Given the description of an element on the screen output the (x, y) to click on. 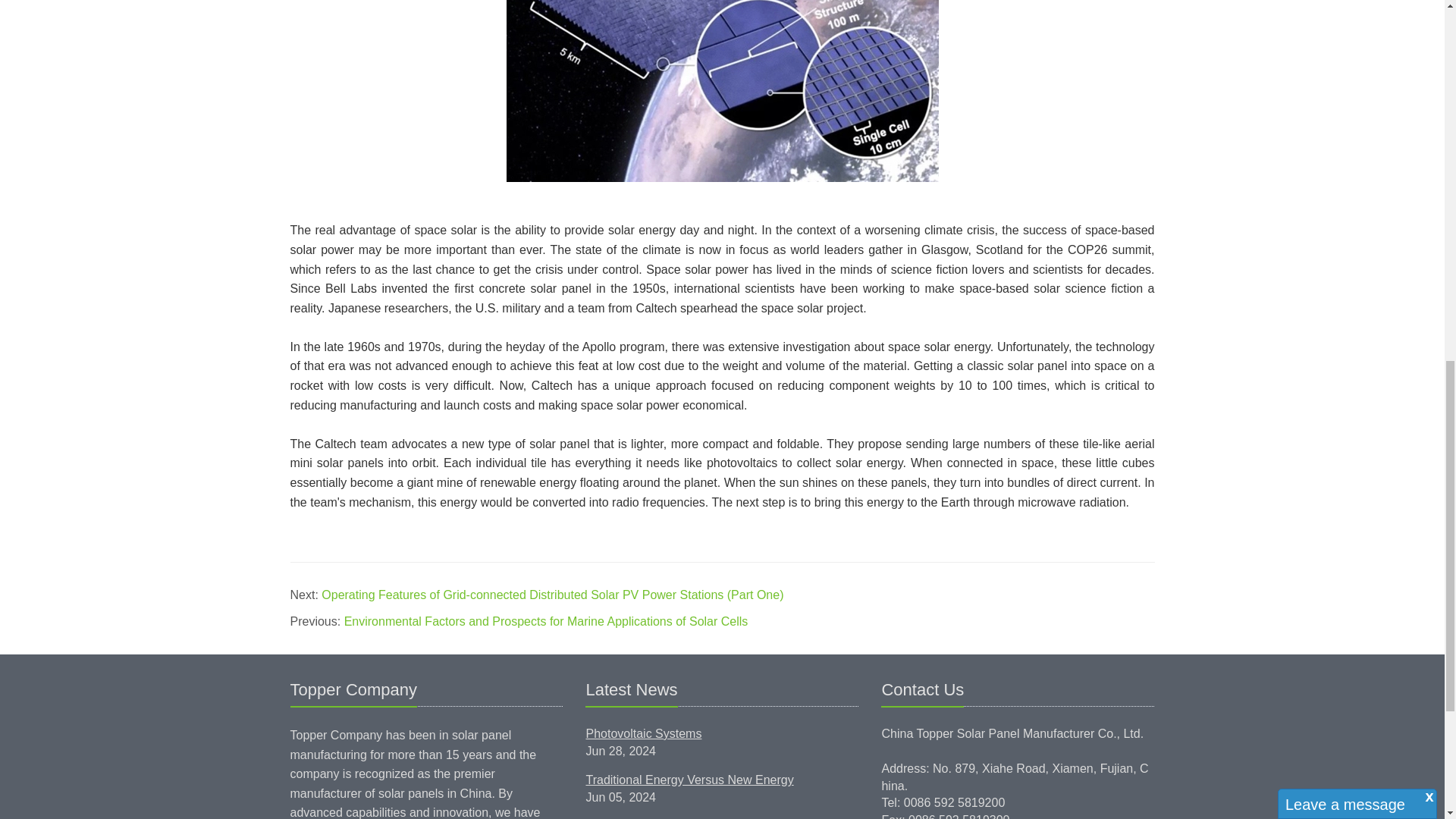
Photovoltaic Systems (643, 734)
Traditional Energy Versus New Energy (689, 779)
Photovoltaic Systems (643, 734)
Traditional Energy Versus New Energy (689, 779)
